Given the description of an element on the screen output the (x, y) to click on. 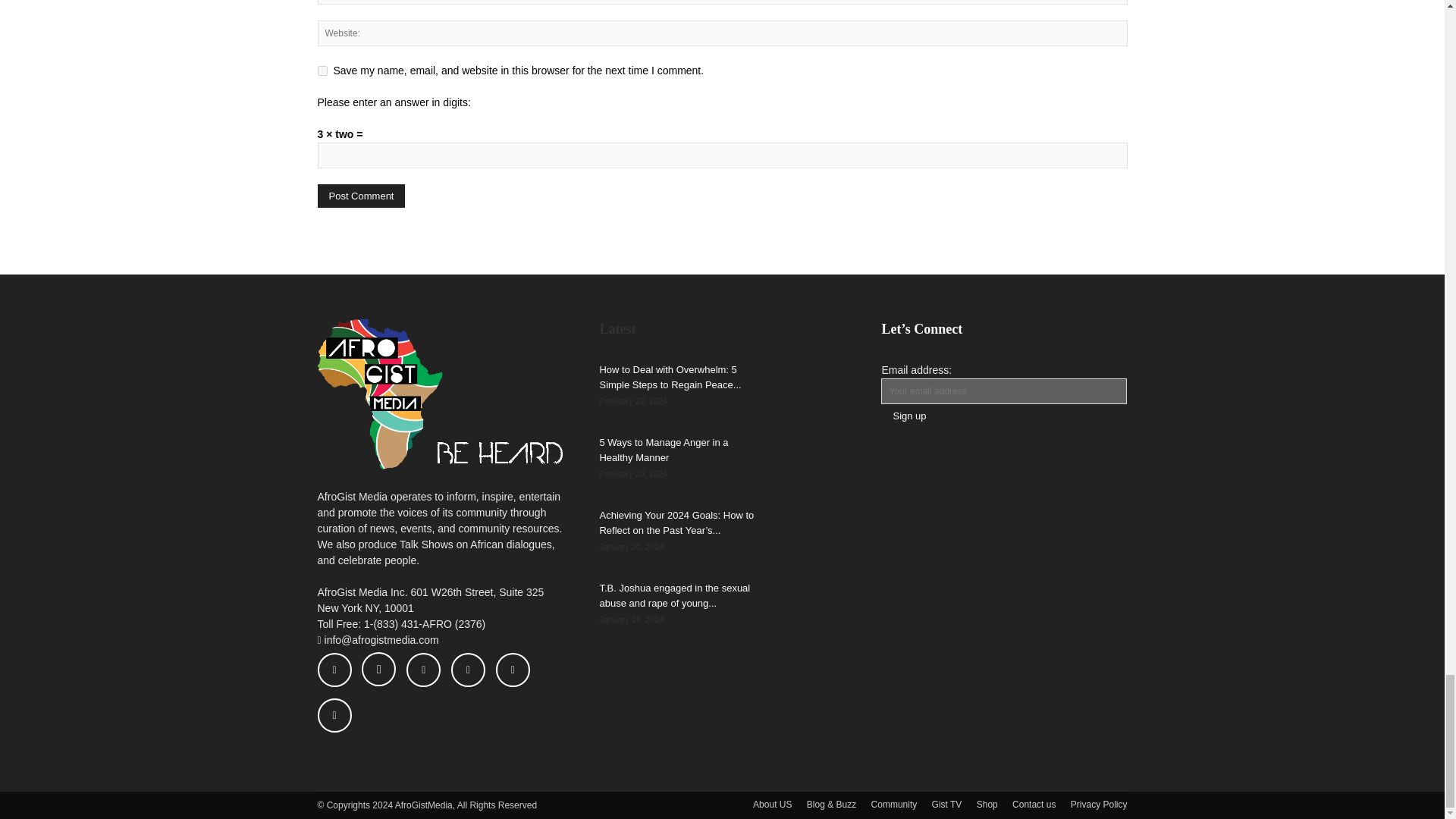
yes (321, 71)
Sign up (908, 415)
Post Comment (360, 196)
